Given the description of an element on the screen output the (x, y) to click on. 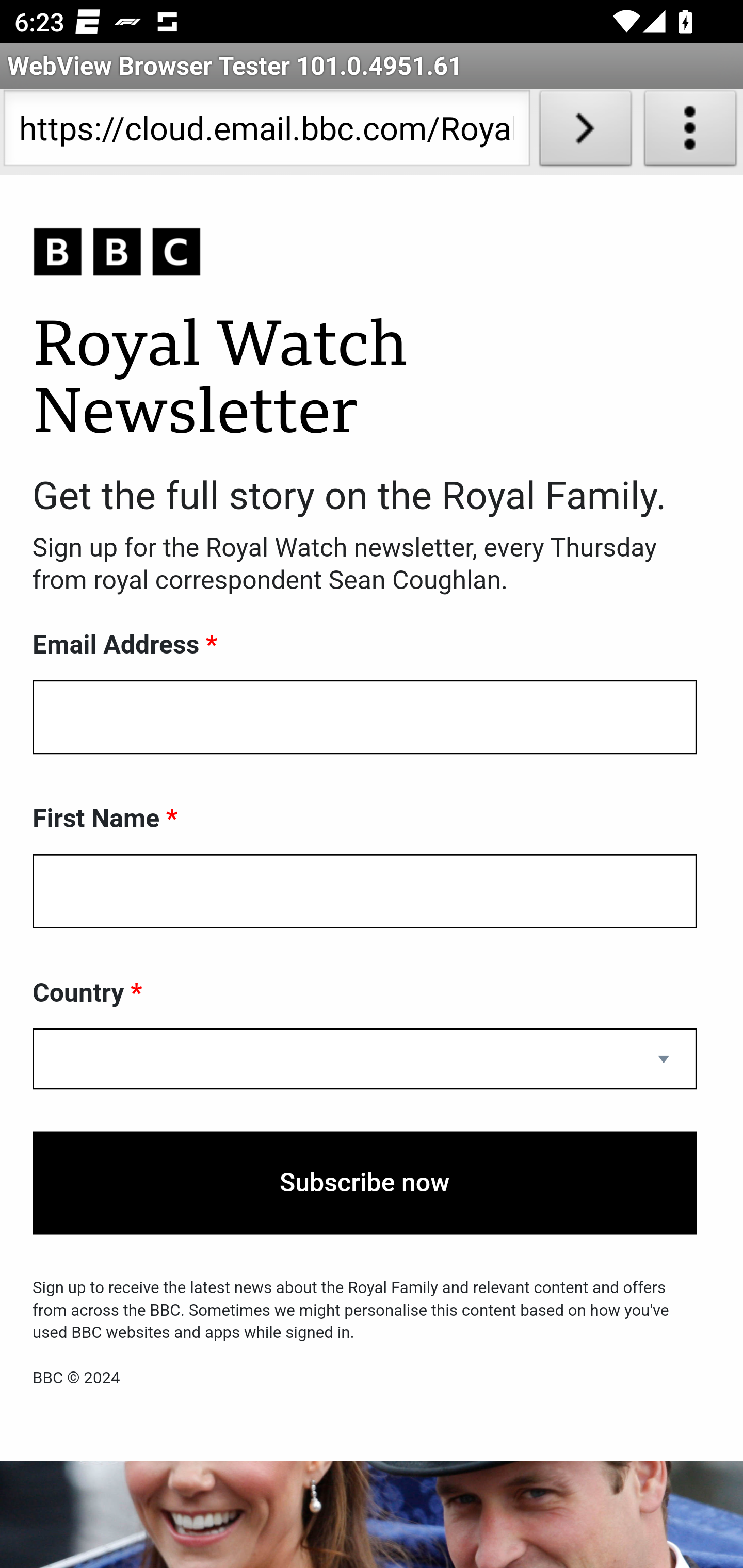
Load URL (585, 132)
About WebView (690, 132)
BBC (364, 253)
Subscribe now (364, 1182)
